Given the description of an element on the screen output the (x, y) to click on. 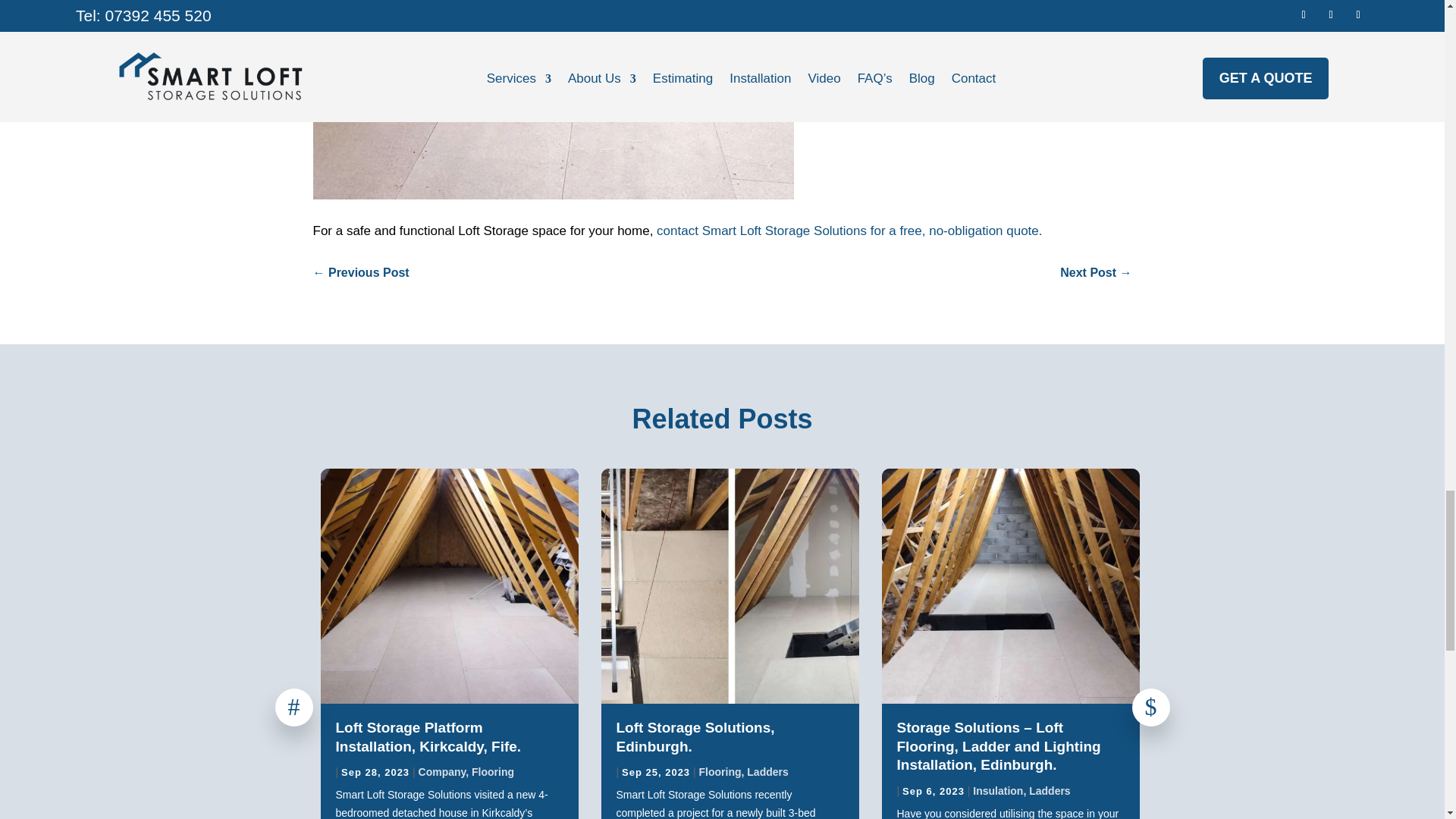
Loft Storage Platform Installation, Kirkcaldy, Fife. (427, 736)
Loft Storage Solutions, Edinburgh. (694, 736)
